Given the description of an element on the screen output the (x, y) to click on. 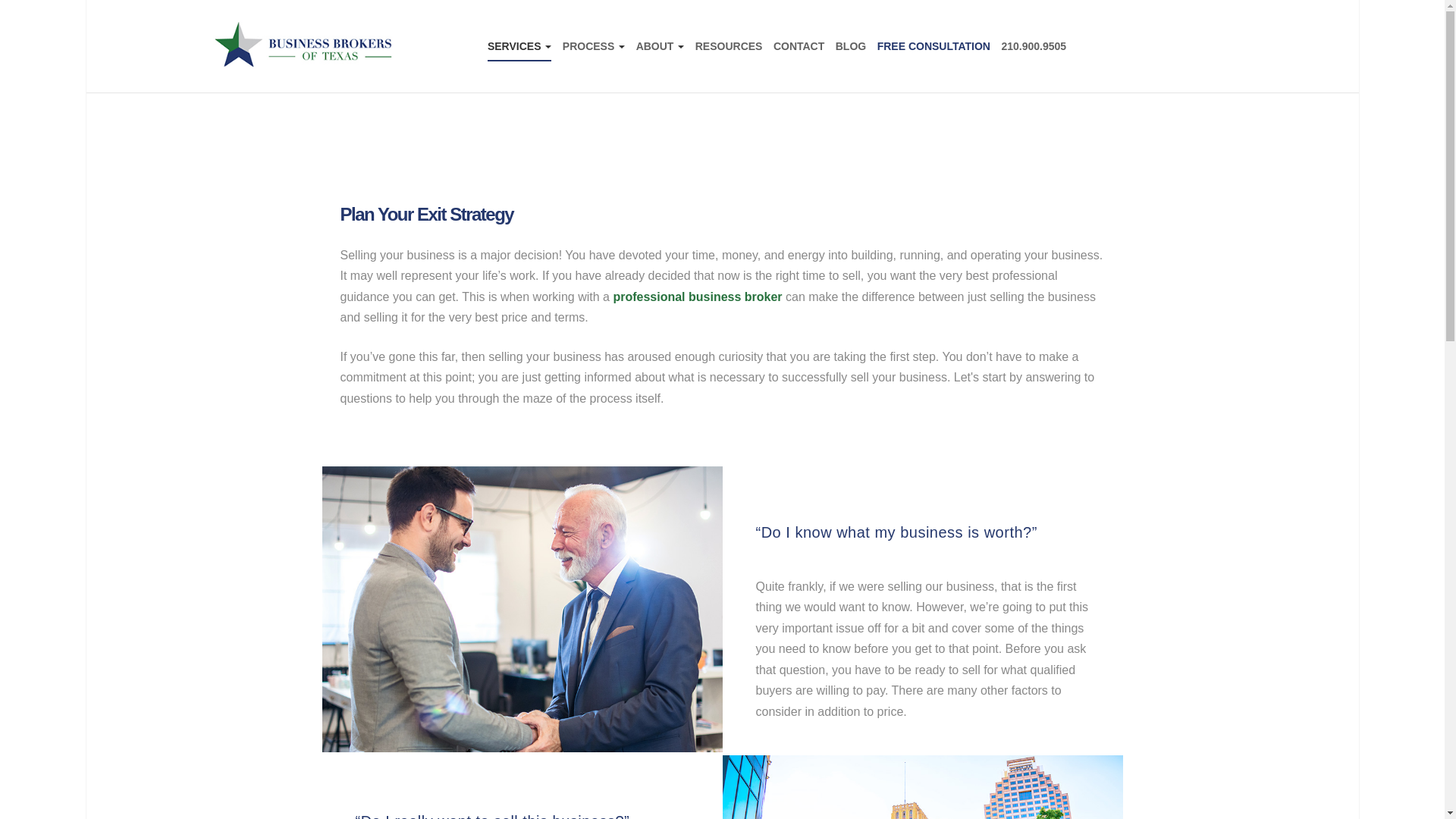
ABOUT (660, 46)
RESOURCES (728, 46)
SERVICES (519, 46)
PROCESS (593, 46)
Business Brokers of Texas (303, 45)
BLOG (850, 46)
CONTACT (798, 46)
FREE CONSULTATION (933, 46)
